Given the description of an element on the screen output the (x, y) to click on. 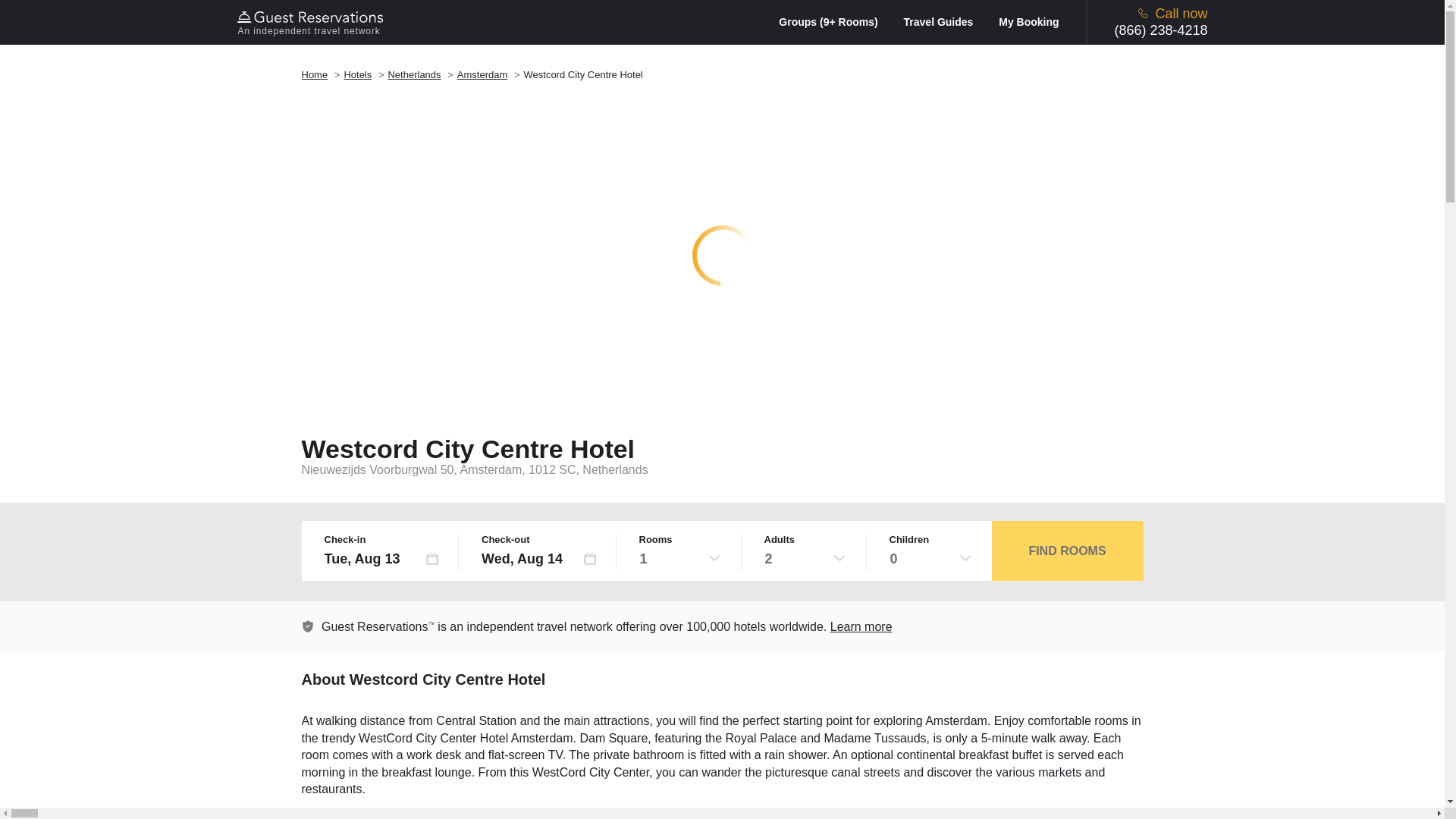
Home (315, 74)
Learn more (307, 625)
Wed, Aug 14 (538, 558)
Tue, Aug 13 (381, 558)
An independent travel network (311, 22)
Learn more (860, 626)
0 (930, 558)
My Booking (1028, 21)
Amsterdam (481, 74)
Travel Guides (949, 21)
